Given the description of an element on the screen output the (x, y) to click on. 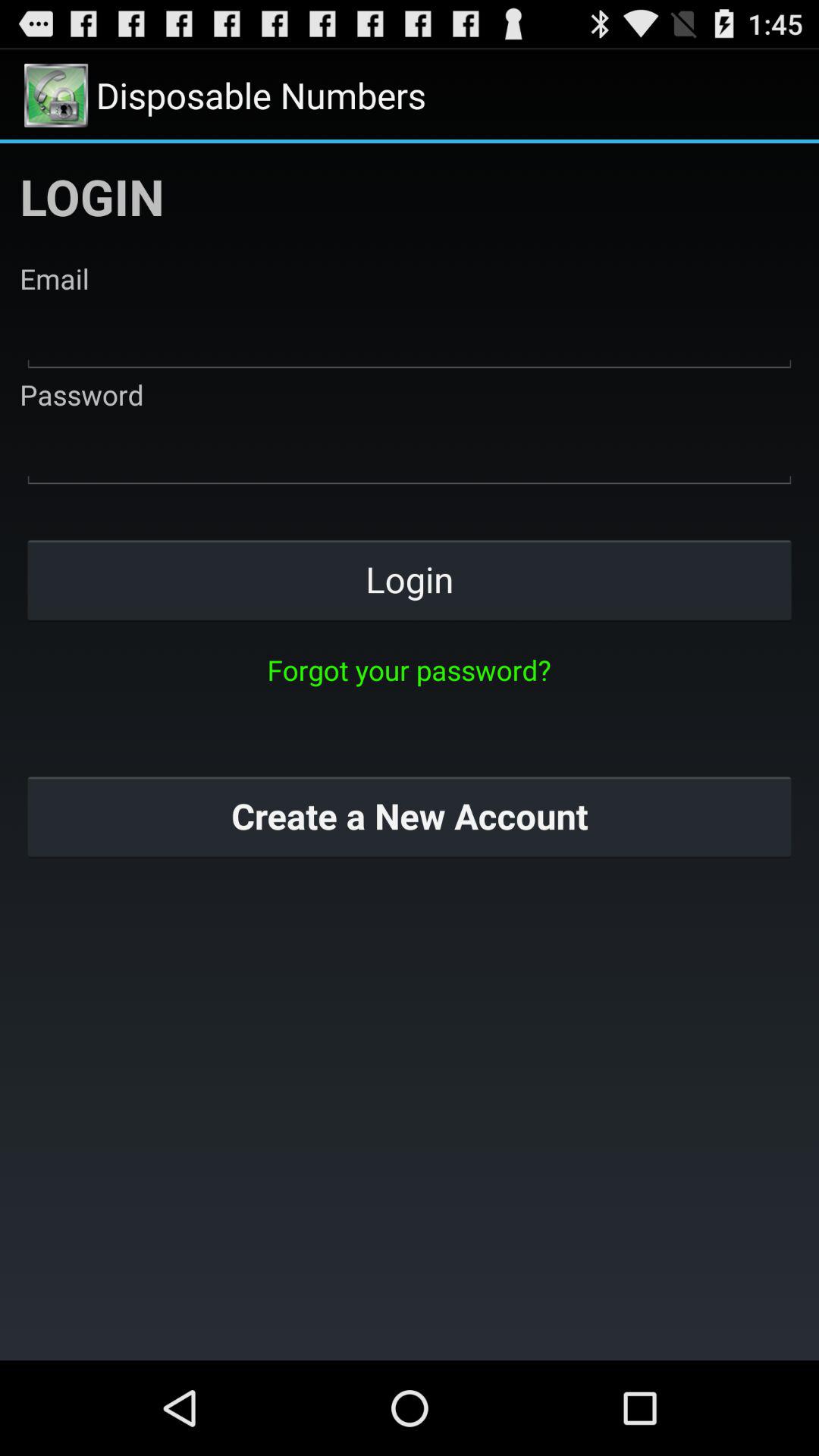
jump until the create a new button (409, 815)
